Given the description of an element on the screen output the (x, y) to click on. 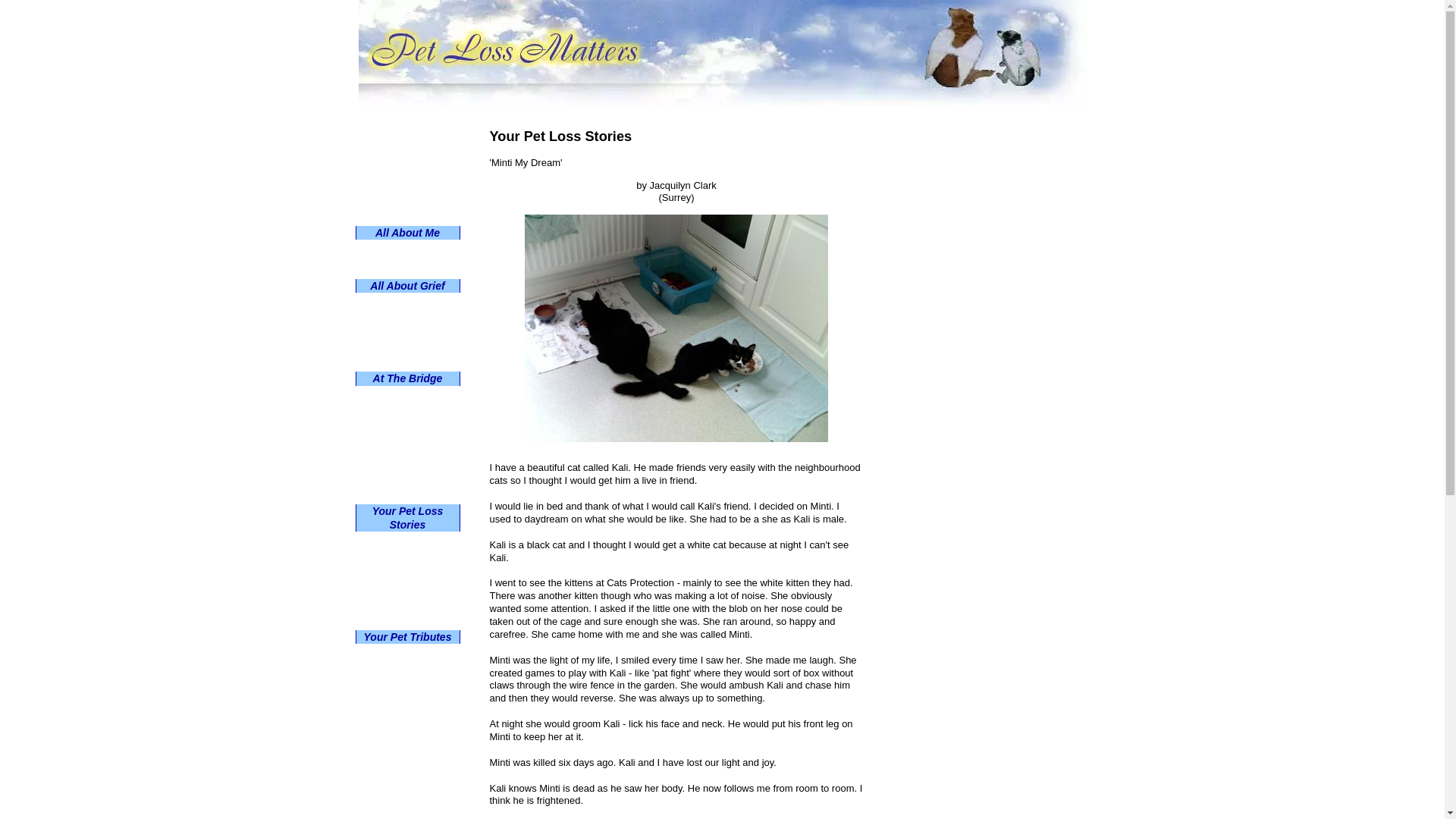
All Other Pets (407, 600)
Share Your Story (407, 541)
The Stages of Grief (407, 322)
Your Cat Stories (407, 560)
Support This Site (407, 216)
Search This Site (407, 619)
The Story (407, 435)
Your Dog Stories (407, 580)
Rainbow Bridge (407, 395)
My Experiences (407, 269)
Pet Tributes A-C (407, 673)
Reactions to Grief (407, 302)
'PAW' Newsletter (407, 157)
Share This Site (407, 196)
Pet Loss Blog (407, 137)
